Given the description of an element on the screen output the (x, y) to click on. 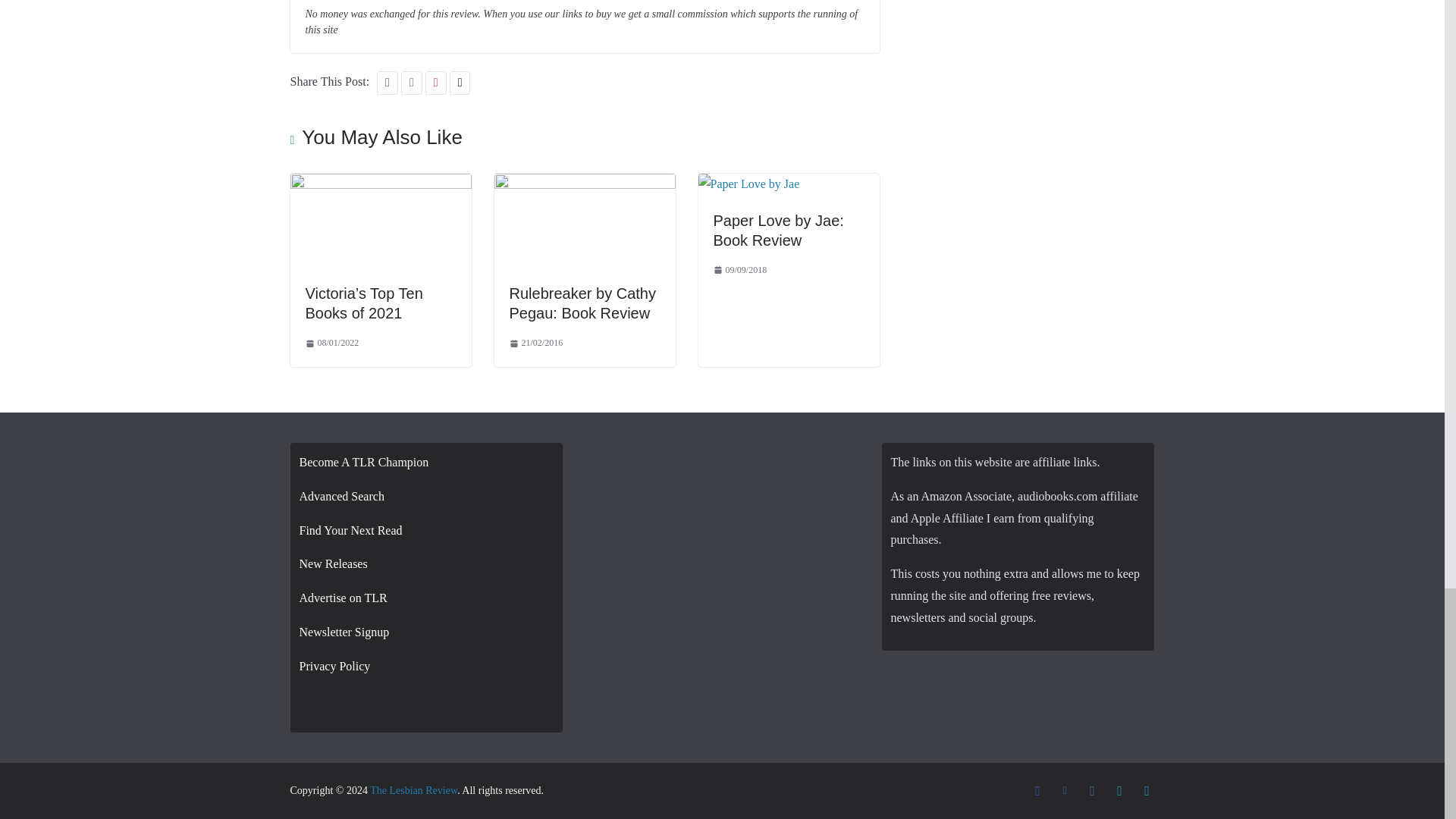
12:00 am (536, 343)
Rulebreaker by Cathy Pegau: Book Review (585, 183)
Rulebreaker by Cathy Pegau: Book Review (582, 303)
12:00 am (331, 343)
Paper Love by Jae: Book Review (748, 183)
